Given the description of an element on the screen output the (x, y) to click on. 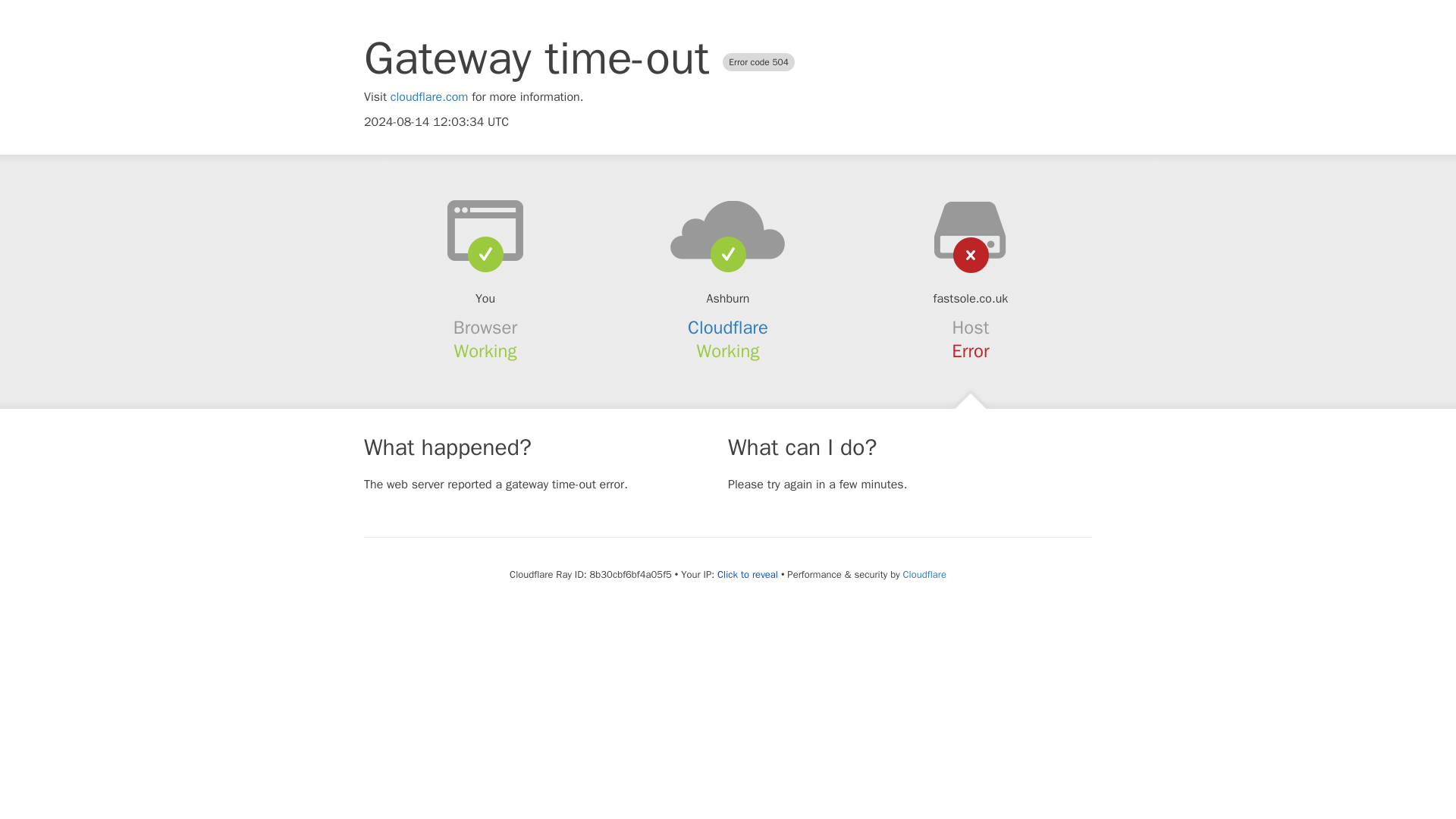
Cloudflare (924, 574)
Click to reveal (747, 574)
Cloudflare (727, 327)
cloudflare.com (429, 96)
